Given the description of an element on the screen output the (x, y) to click on. 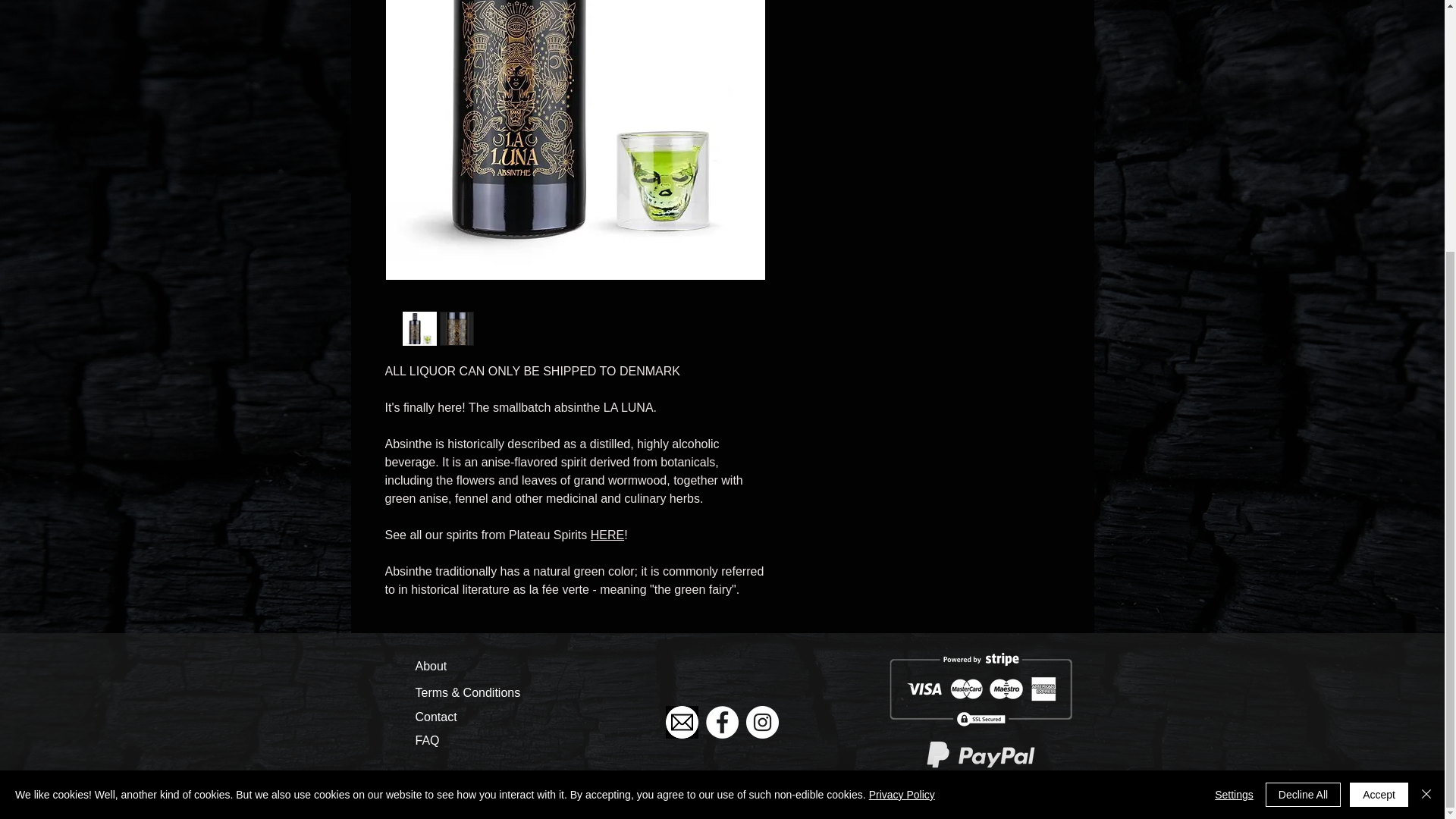
HERE (607, 534)
